Given the description of an element on the screen output the (x, y) to click on. 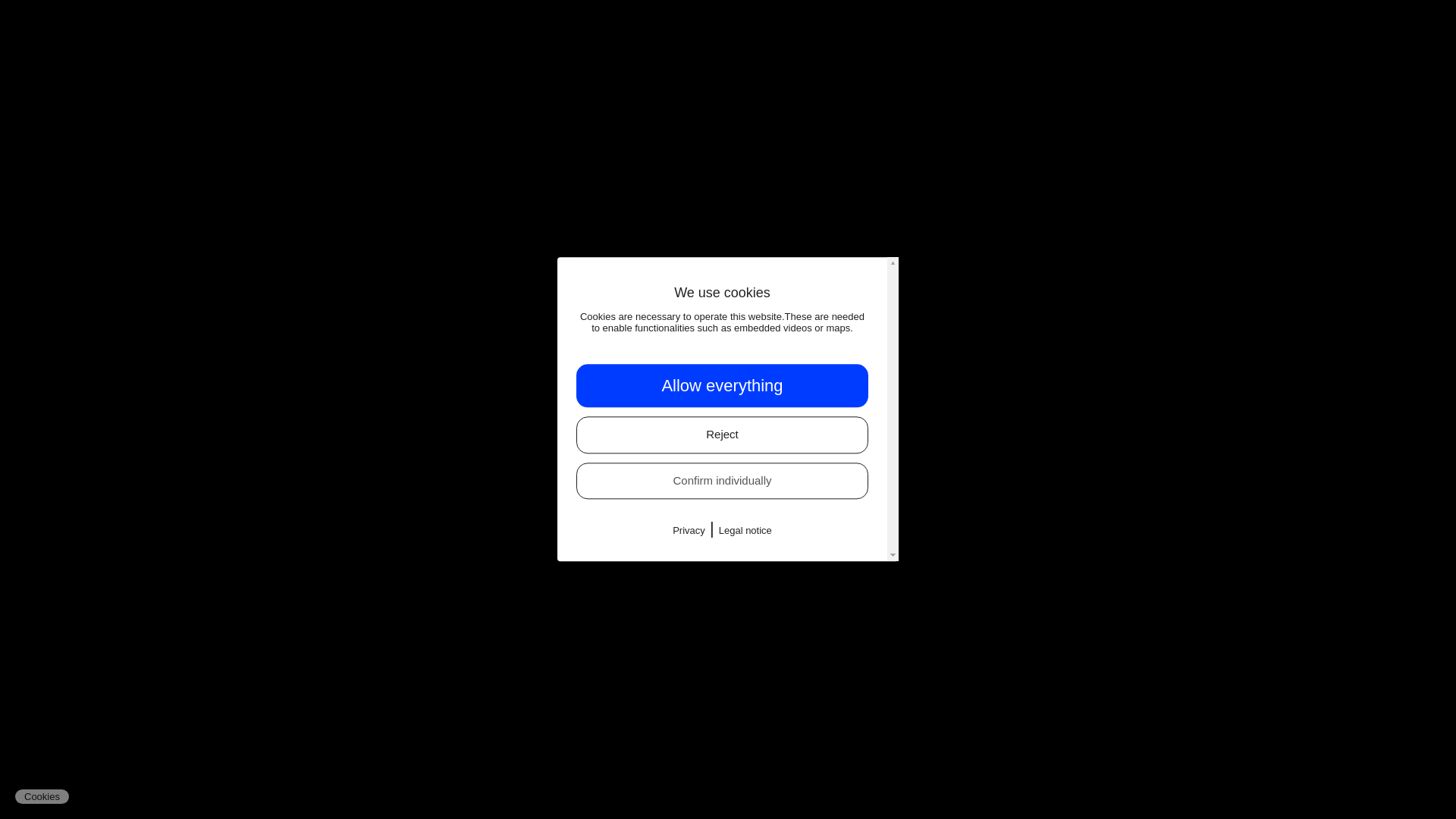
Allow everything (721, 385)
Confirm individually (721, 480)
Privacy (688, 531)
Cookies (41, 795)
Reject (721, 435)
Legal notice (745, 531)
